Given the description of an element on the screen output the (x, y) to click on. 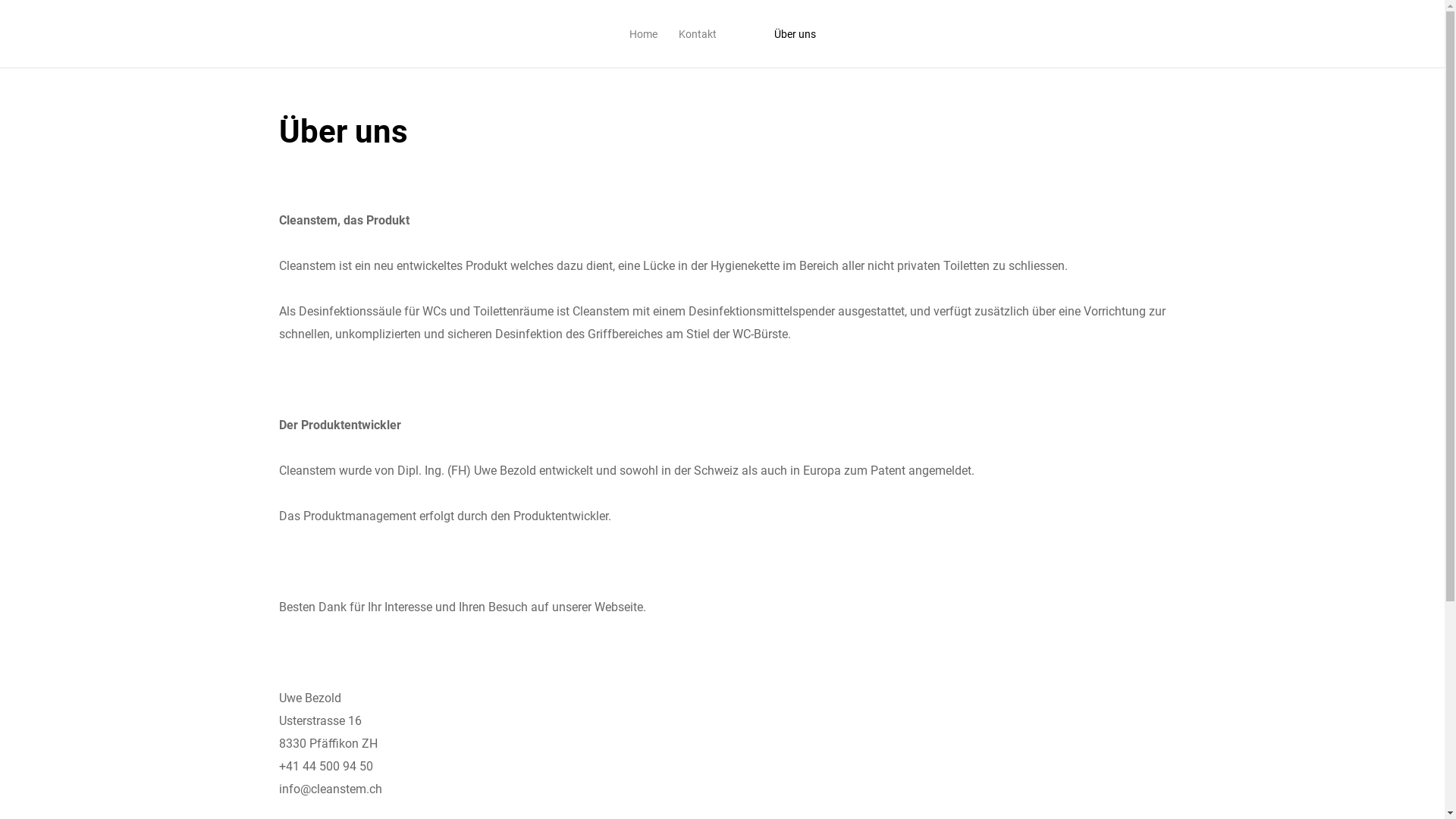
Home Element type: text (643, 34)
Kontakt Element type: text (696, 34)
